Given the description of an element on the screen output the (x, y) to click on. 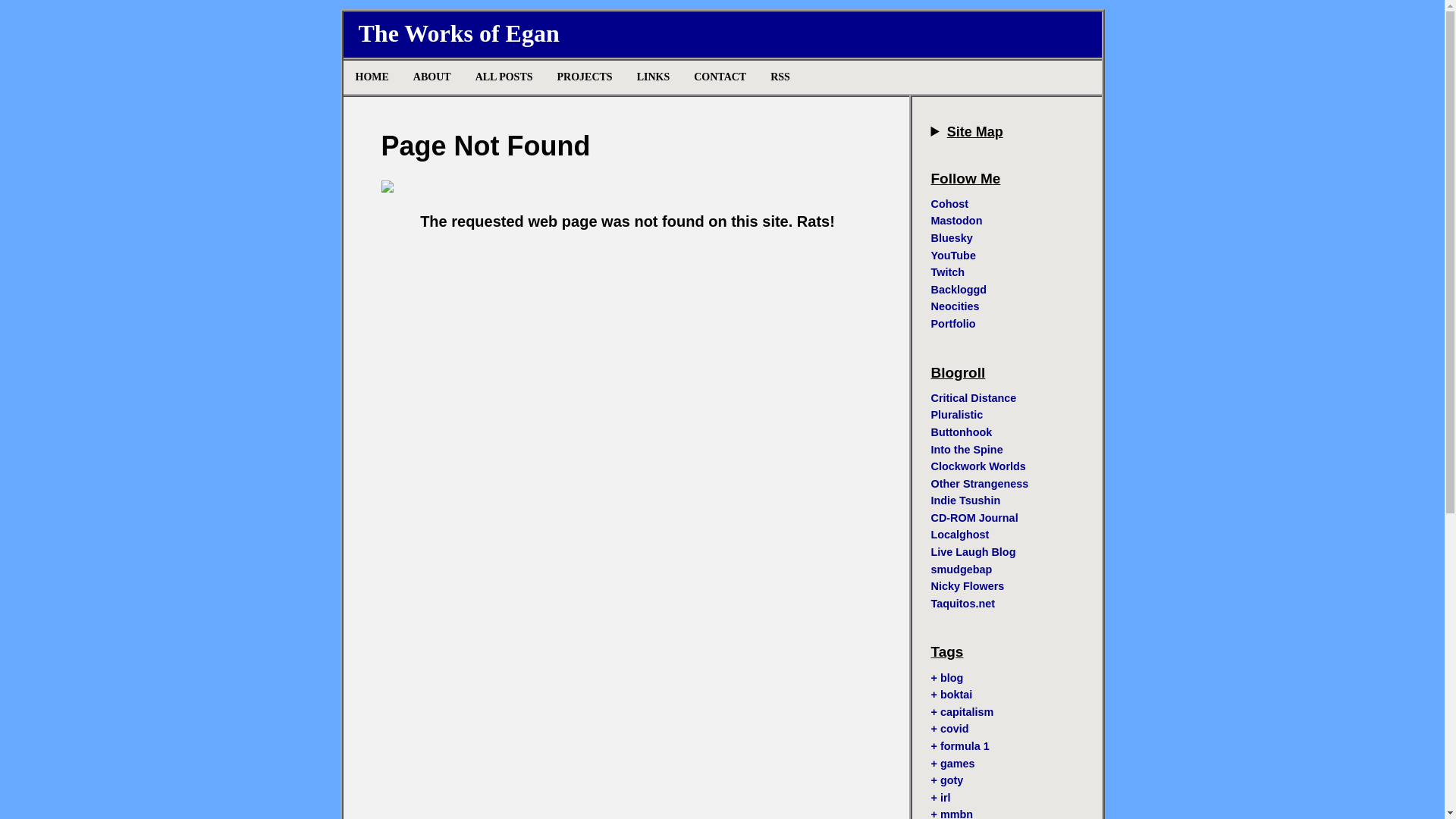
YouTube (953, 255)
ABOUT (432, 77)
HOME (371, 77)
Twitch (948, 272)
Cohost (950, 203)
Mastodon (956, 220)
LINKS (653, 77)
Bluesky (951, 237)
Neocities (955, 306)
Backloggd (959, 289)
RSS (780, 77)
The Works of Egan (458, 32)
PROJECTS (584, 77)
ALL POSTS (503, 77)
CONTACT (719, 77)
